Given the description of an element on the screen output the (x, y) to click on. 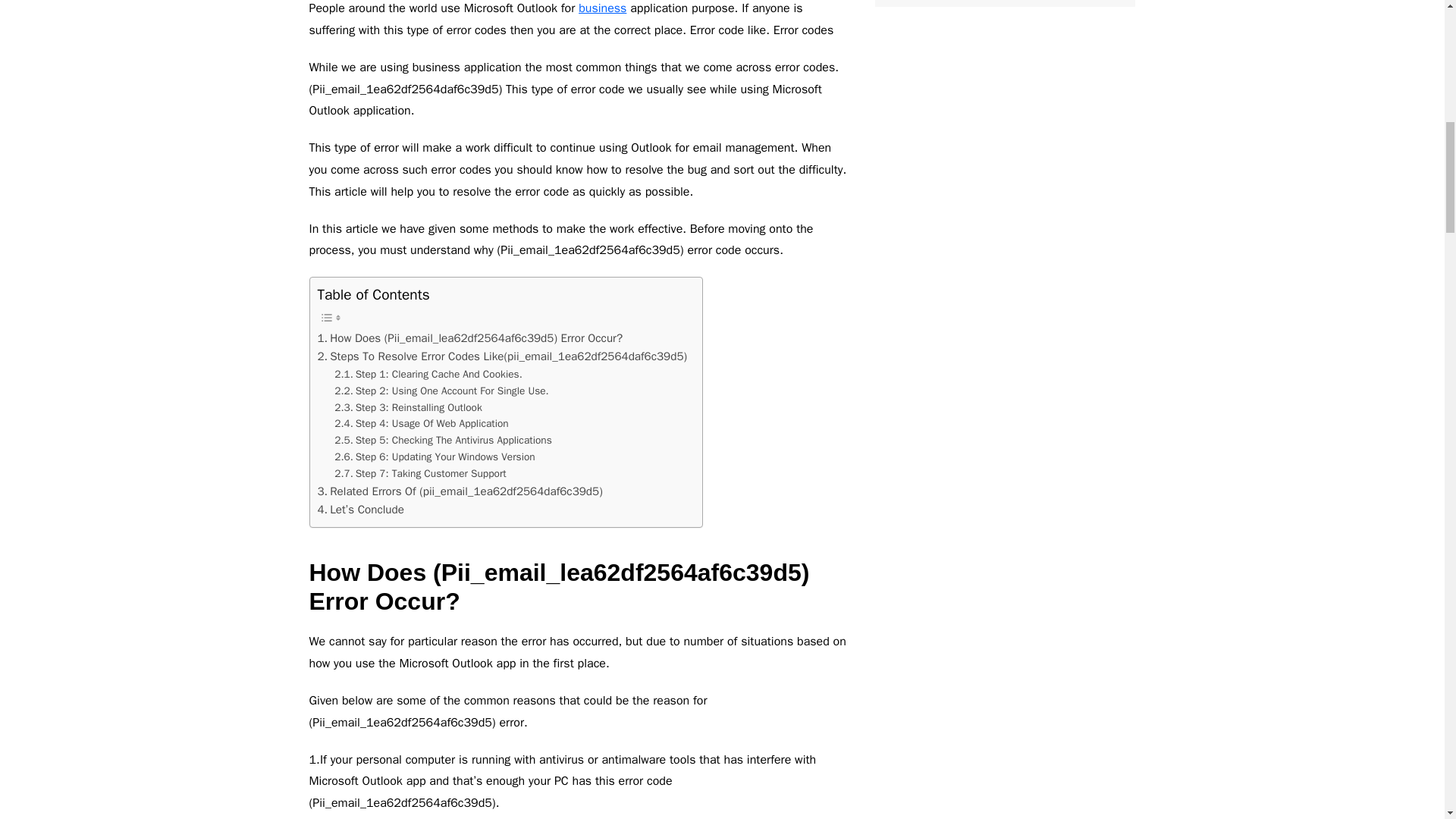
Step 4: Usage Of Web Application (421, 423)
Step 5: Checking The Antivirus Applications (442, 440)
business (602, 7)
Step 3: Reinstalling Outlook (407, 407)
Step 3: Reinstalling Outlook (407, 407)
Step 1: Clearing Cache And Cookies. (427, 374)
Step 1: Clearing Cache And Cookies. (427, 374)
Step 6: Updating Your Windows Version (434, 457)
Step 7: Taking Customer Support (419, 474)
Step 4: Usage Of Web Application (421, 423)
